Given the description of an element on the screen output the (x, y) to click on. 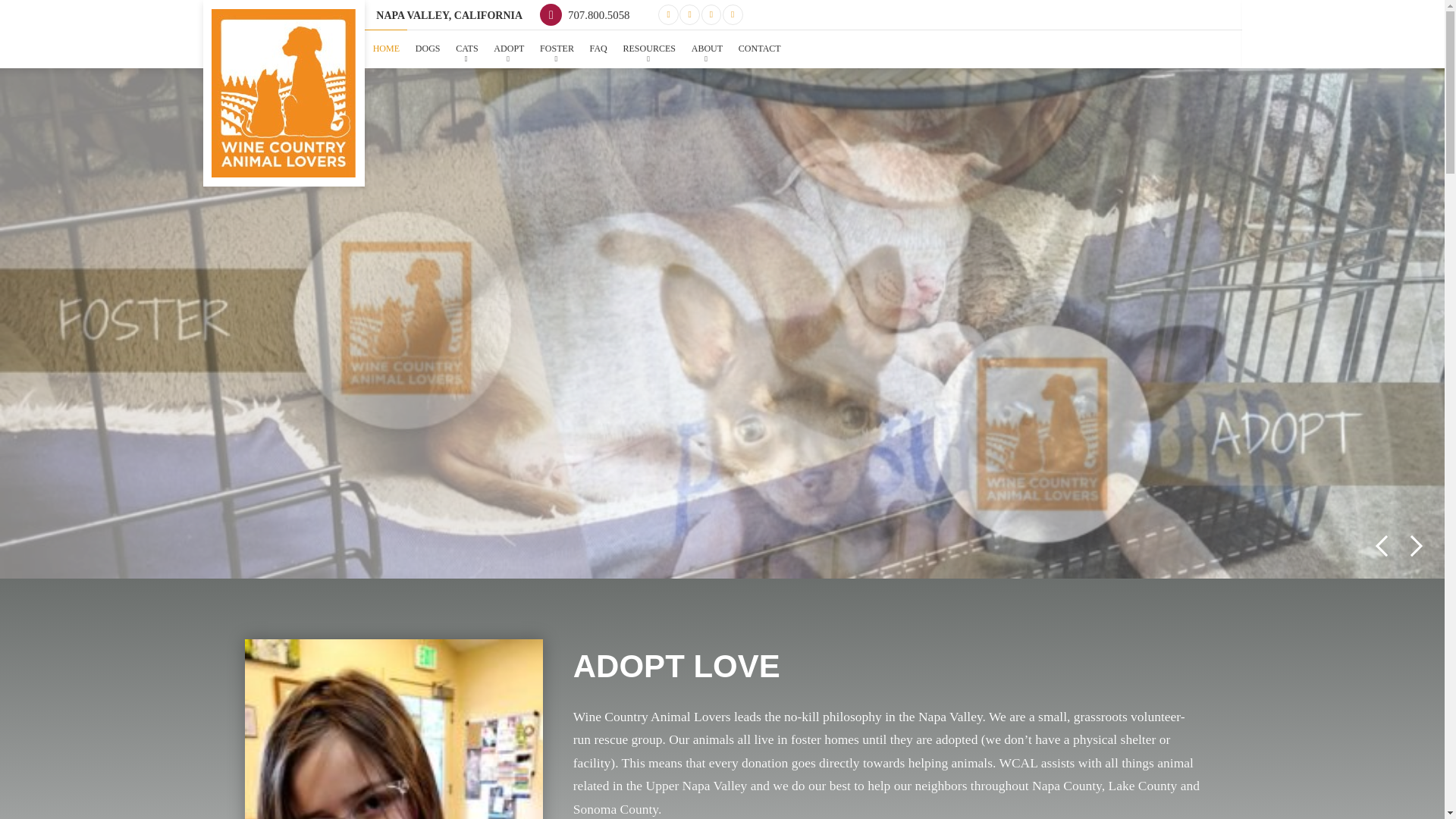
ABOUT (706, 48)
Follow Us on Facebook (668, 14)
HOME (386, 48)
ADOPT (509, 48)
girlkitten (392, 729)
Follow Us on Instagram (732, 14)
DONATE (1203, 14)
Next (1416, 546)
Follow Us on LinkedIn (711, 14)
Previous (1381, 546)
